Given the description of an element on the screen output the (x, y) to click on. 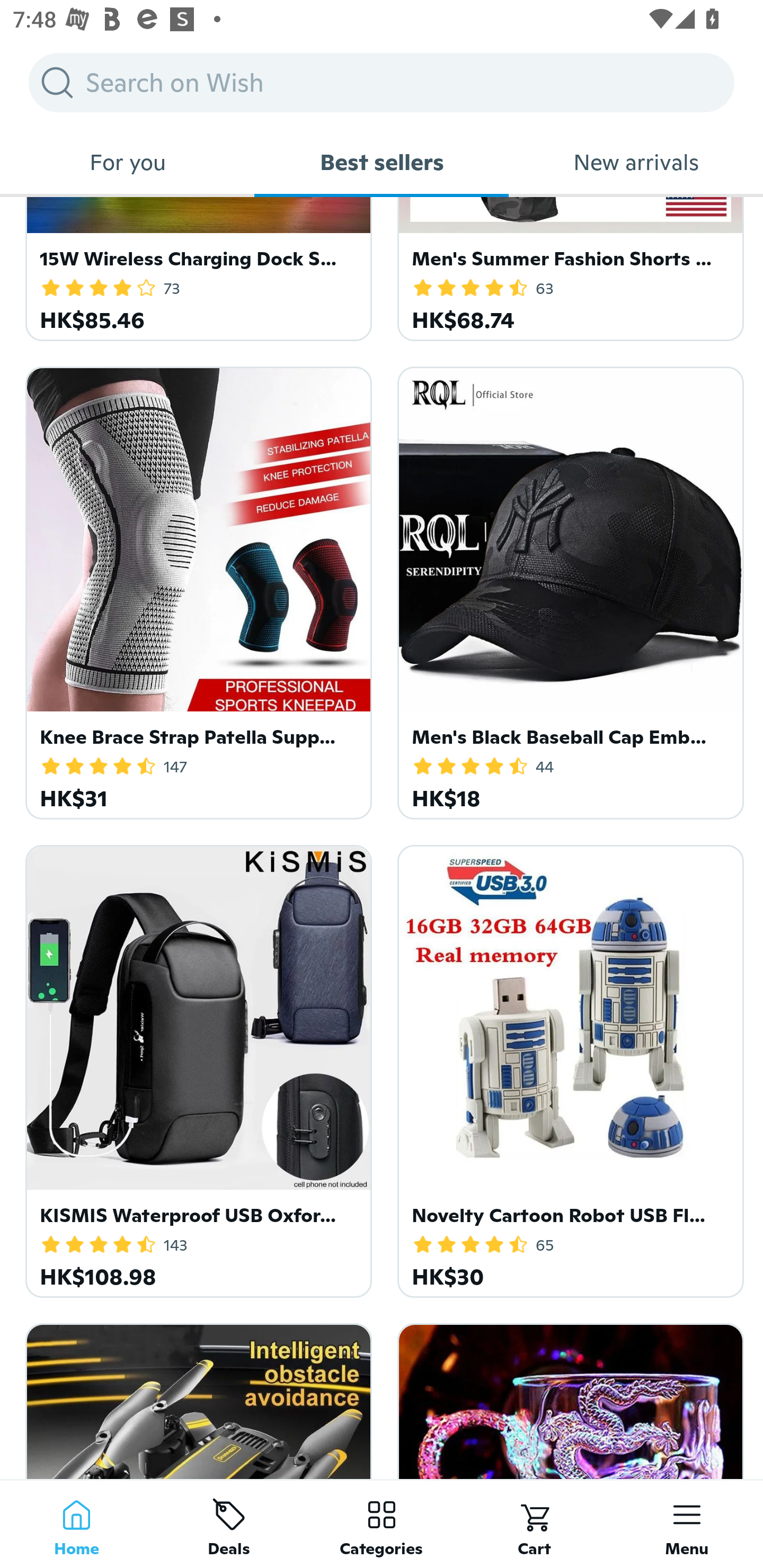
Search on Wish (381, 82)
For you (127, 161)
Best sellers (381, 161)
New arrivals (635, 161)
Home (76, 1523)
Deals (228, 1523)
Categories (381, 1523)
Cart (533, 1523)
Menu (686, 1523)
